Given the description of an element on the screen output the (x, y) to click on. 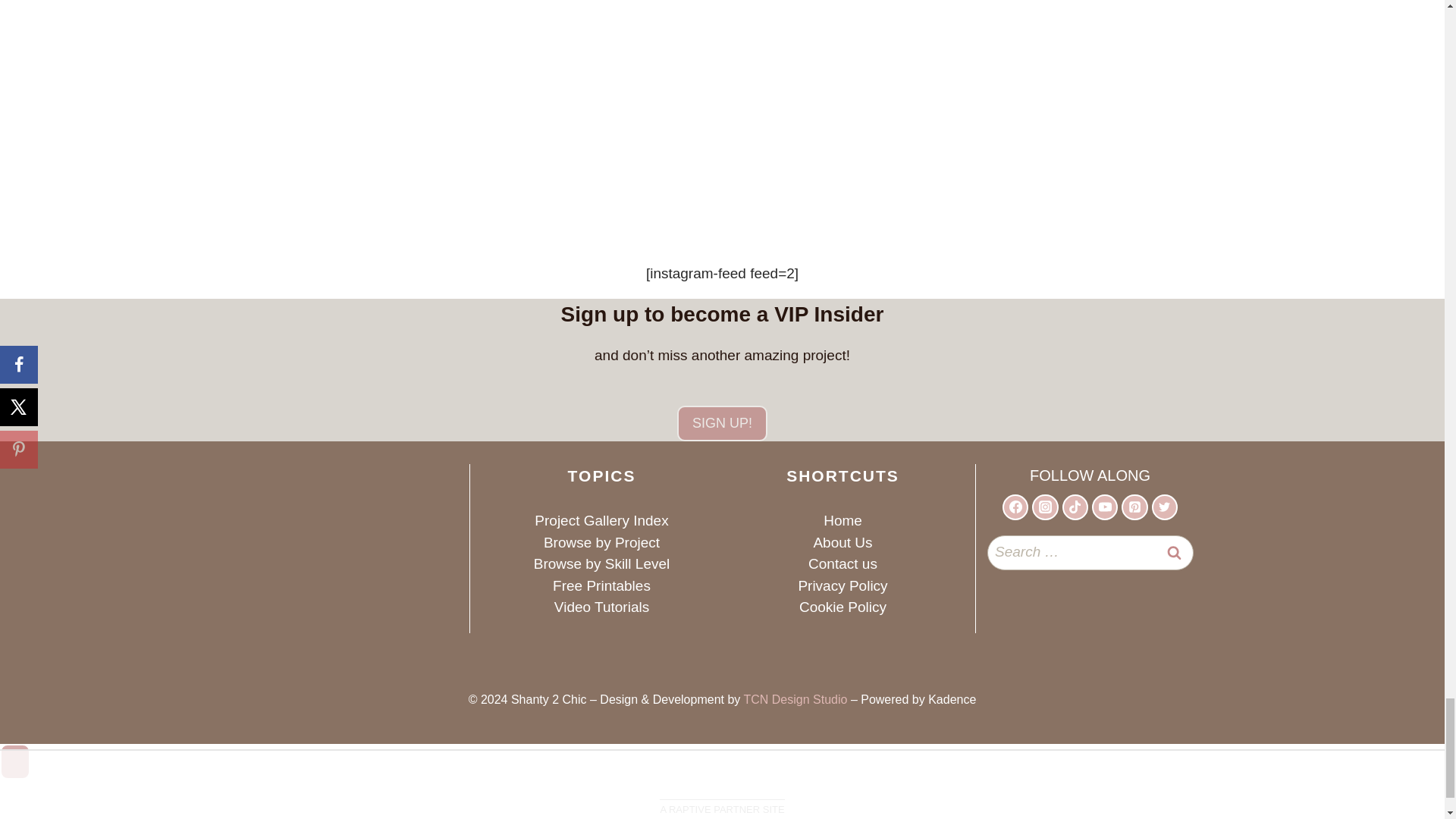
Search (1174, 552)
Search (1174, 552)
